Given the description of an element on the screen output the (x, y) to click on. 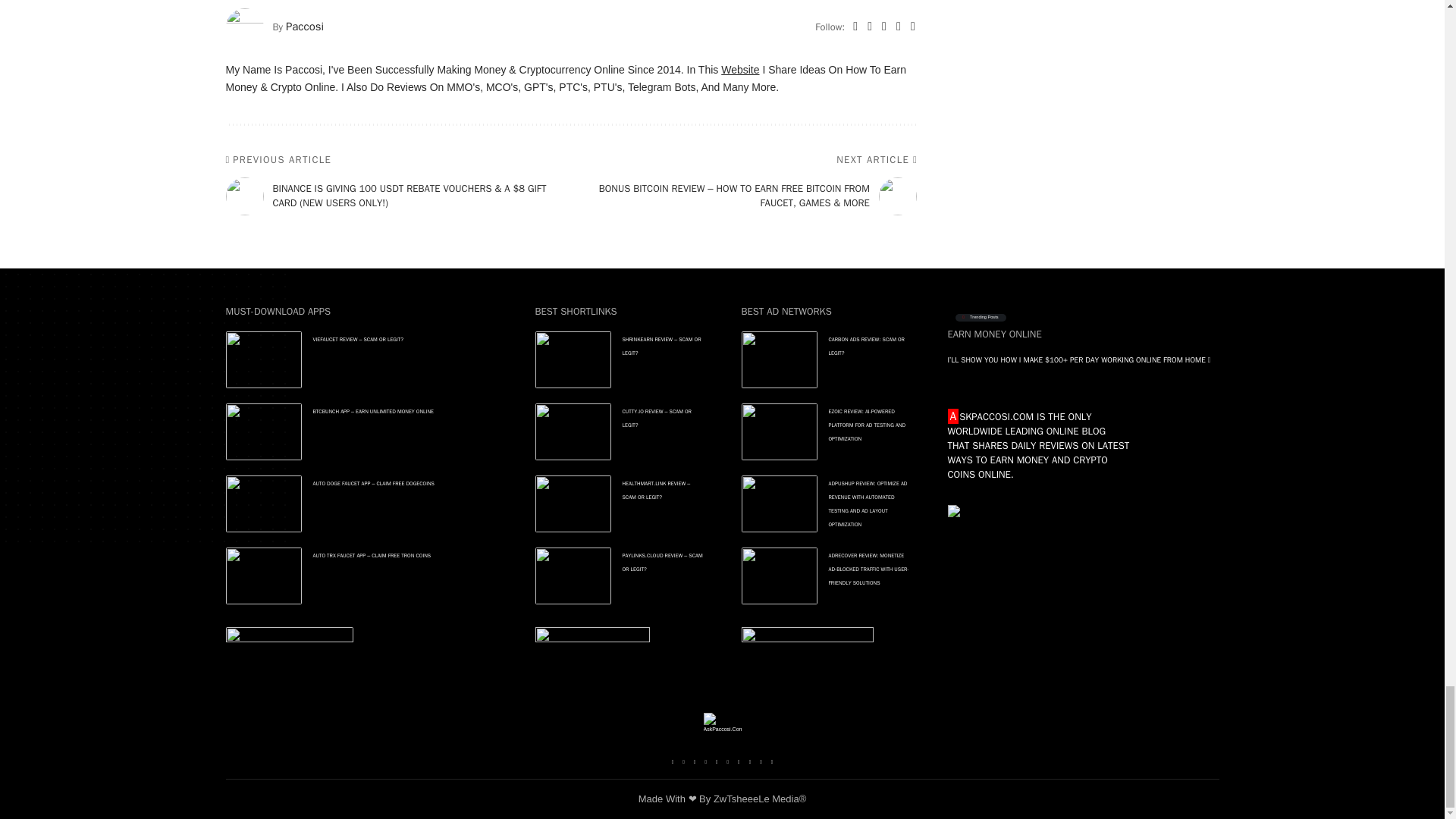
Carbon Ads Review: Scam Or Legit? (778, 359)
AskPaccosi.Com (722, 731)
